Given the description of an element on the screen output the (x, y) to click on. 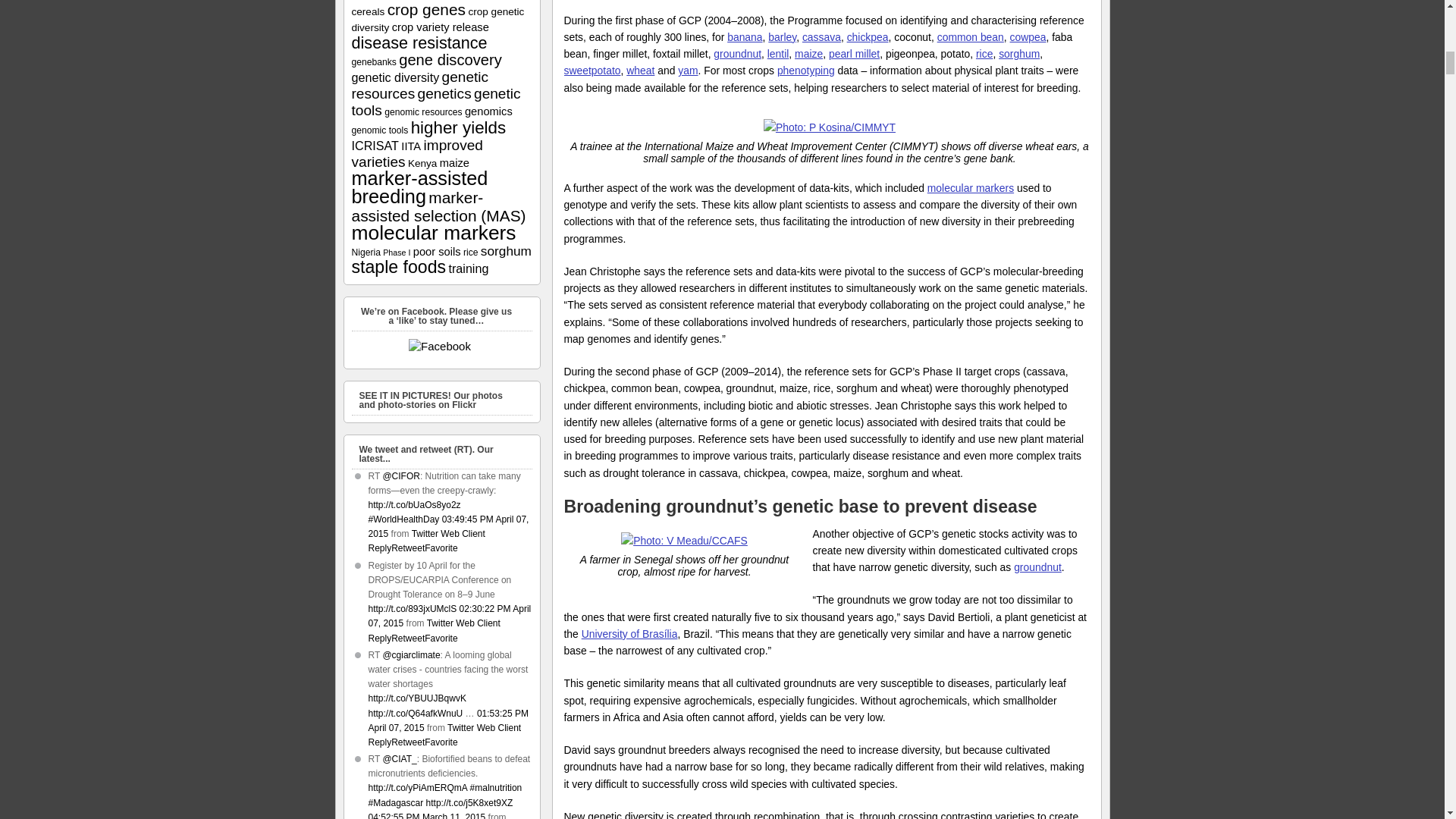
cassava (821, 37)
lentil (778, 53)
common bean (970, 37)
groundnut (737, 53)
maize (808, 53)
chickpea (867, 37)
cowpea (1028, 37)
barley (782, 37)
banana (743, 37)
